Given the description of an element on the screen output the (x, y) to click on. 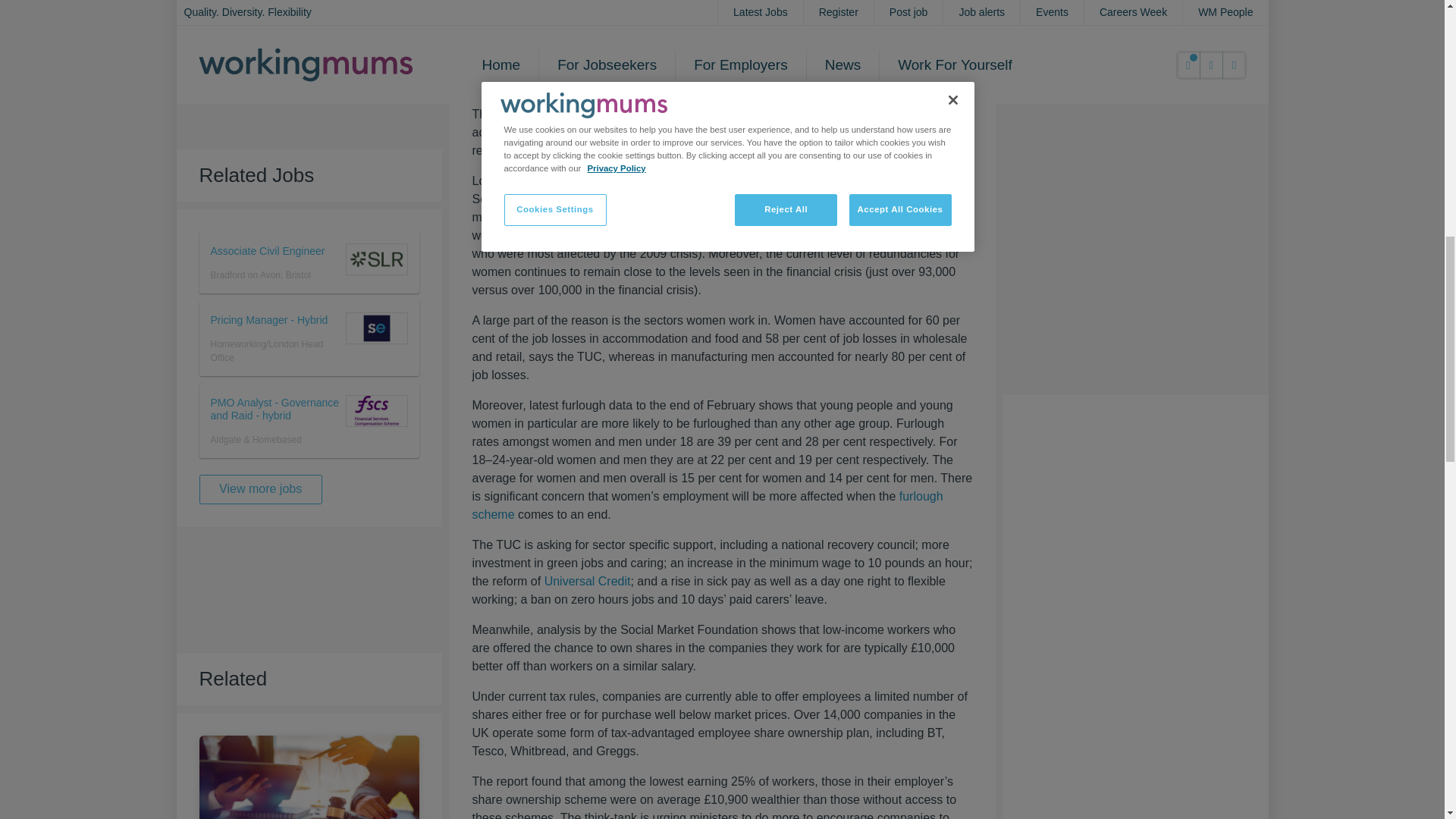
A fully flexible SME (308, 791)
